Given the description of an element on the screen output the (x, y) to click on. 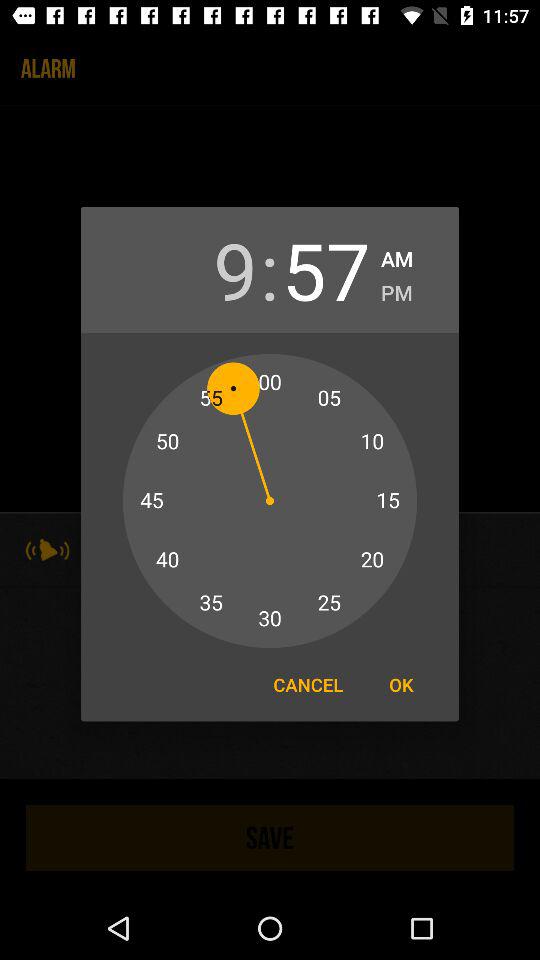
open item next to the am item (325, 269)
